Given the description of an element on the screen output the (x, y) to click on. 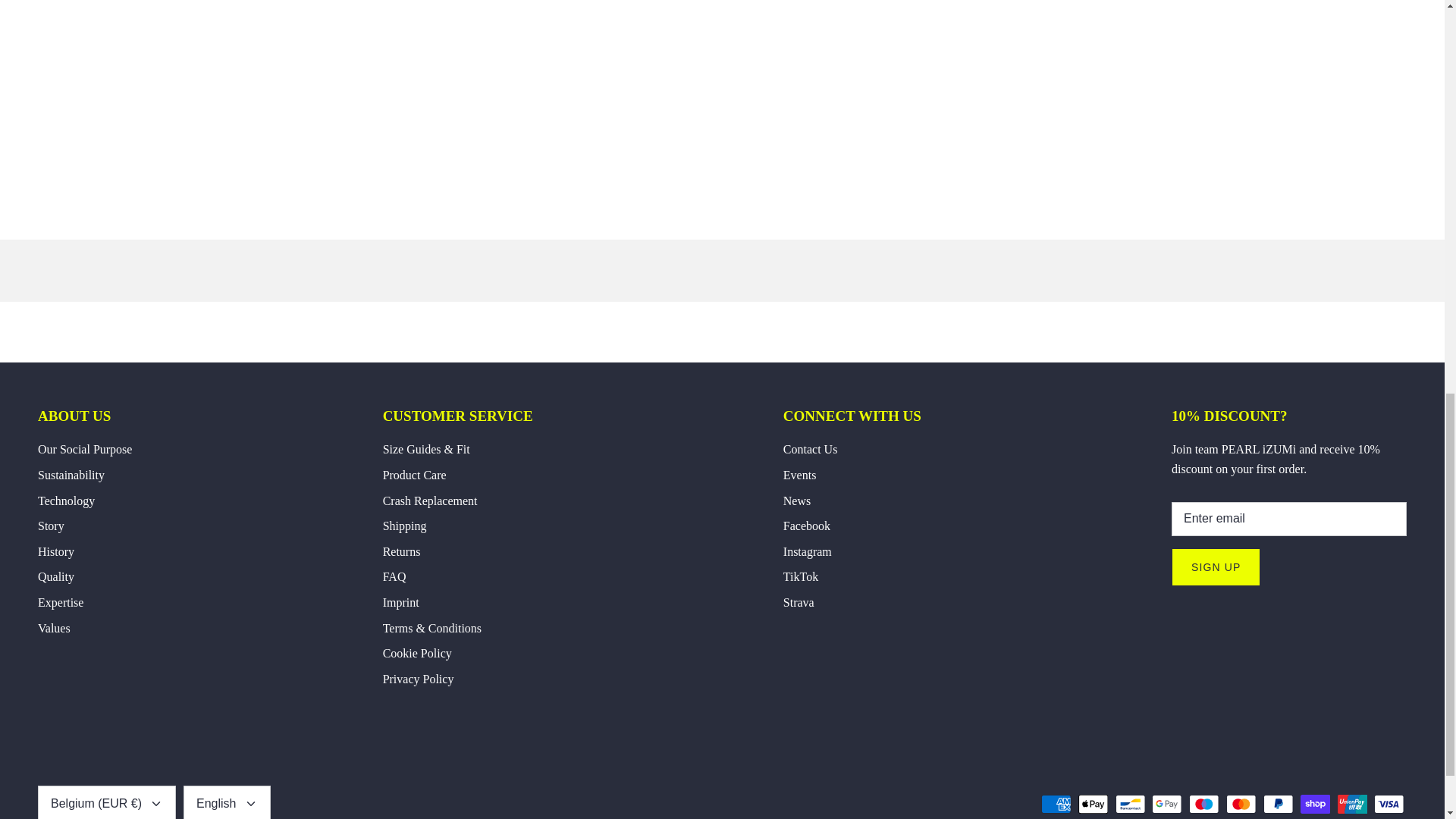
PayPal (1277, 804)
Bancontact (1130, 804)
Union Pay (1352, 804)
Visa (1388, 804)
Down (156, 803)
Shop Pay (1315, 804)
Apple Pay (1093, 804)
Down (250, 803)
Mastercard (1240, 804)
American Express (1056, 804)
Google Pay (1166, 804)
Maestro (1203, 804)
